Given the description of an element on the screen output the (x, y) to click on. 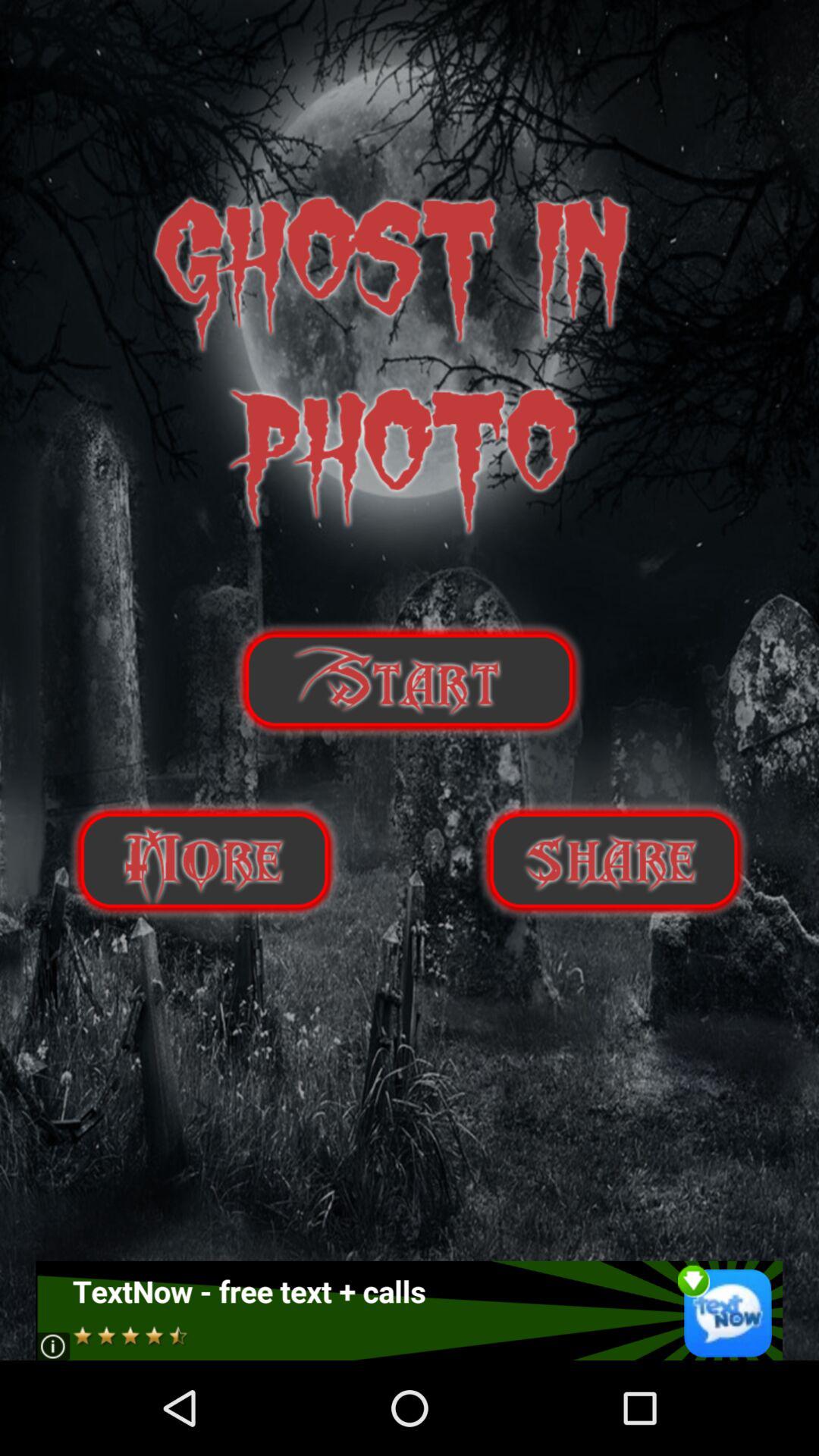
more the article (204, 860)
